Given the description of an element on the screen output the (x, y) to click on. 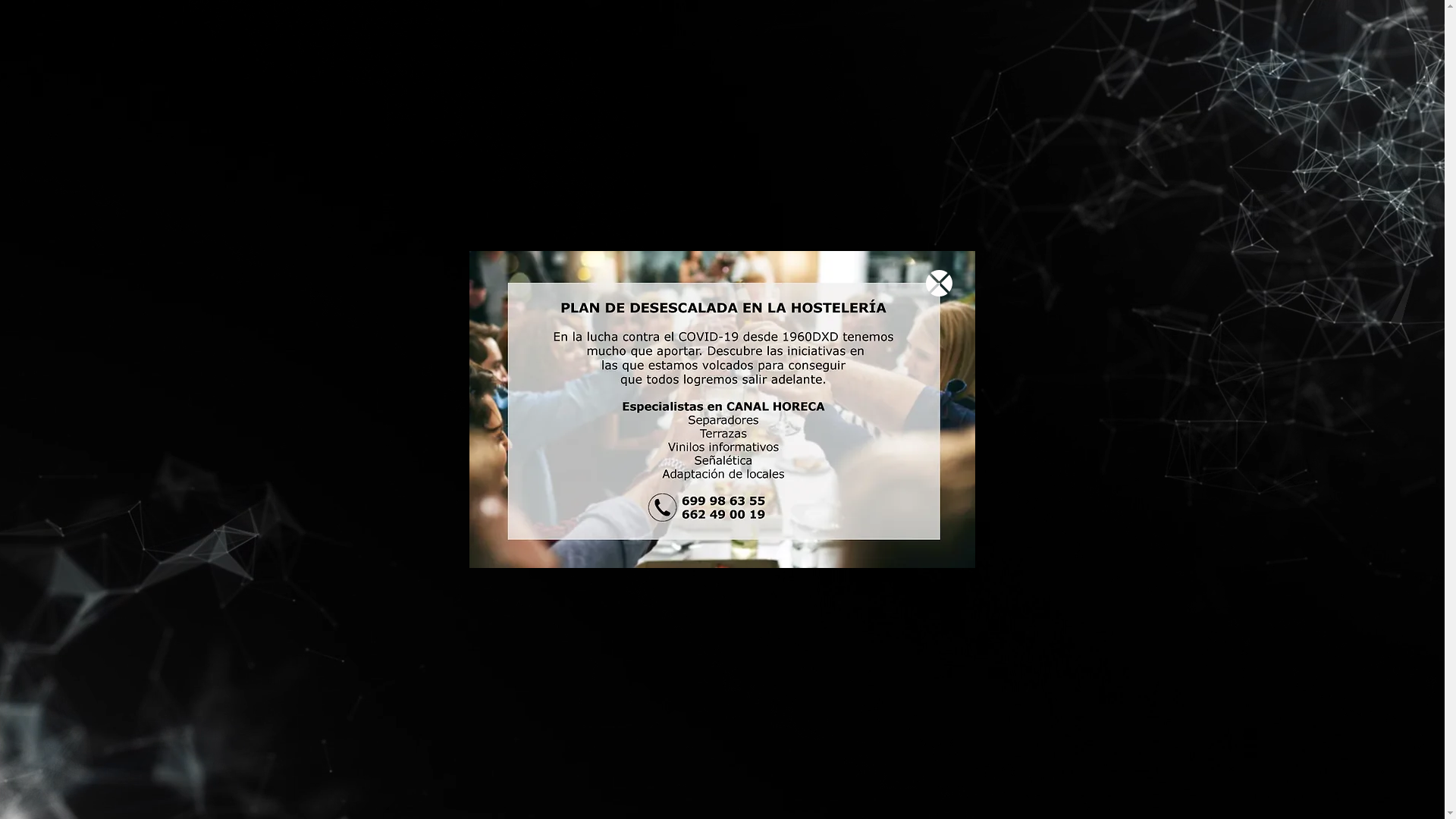
Volver al sitio Element type: hover (938, 282)
Home Element type: text (391, 31)
TWIPLA (Visitor Analytics) Element type: hover (1222, 450)
Retail Element type: text (480, 31)
Nosotros Element type: text (809, 31)
Contacto Element type: text (940, 31)
Tienda Element type: text (1056, 31)
Eventos Element type: text (685, 31)
